Given the description of an element on the screen output the (x, y) to click on. 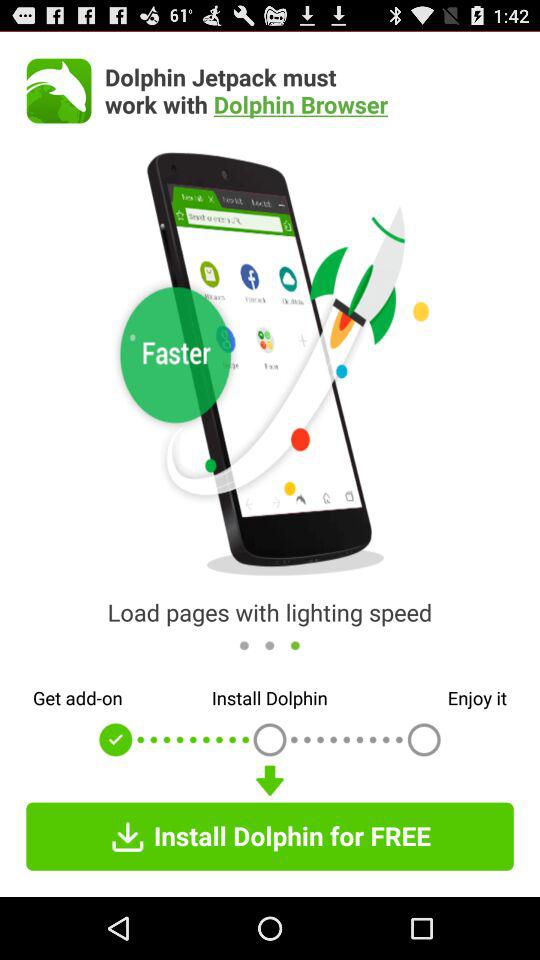
choose the icon next to dolphin jetpack must icon (58, 90)
